Given the description of an element on the screen output the (x, y) to click on. 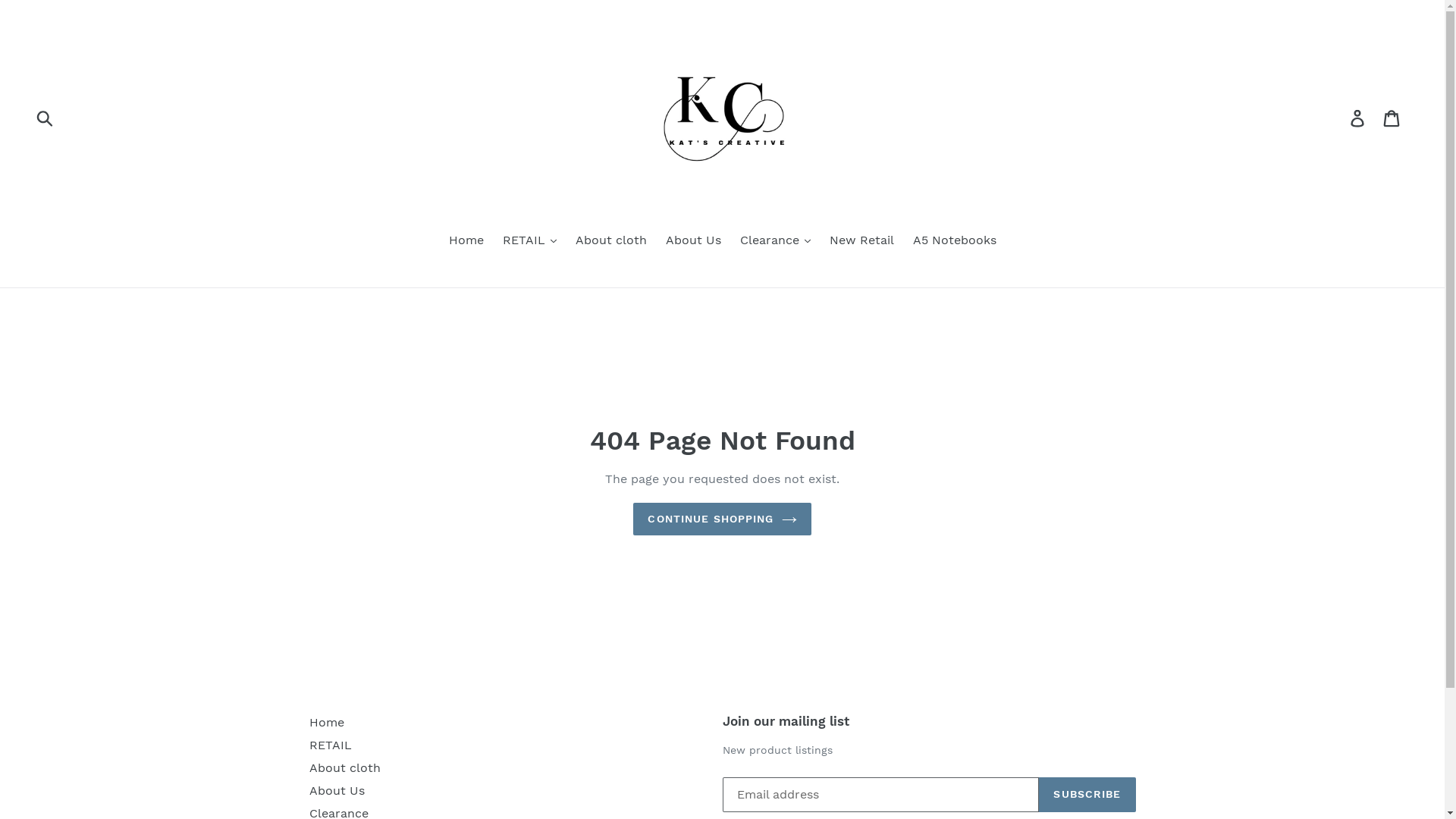
About cloth Element type: text (610, 241)
A5 Notebooks Element type: text (954, 241)
About Us Element type: text (336, 790)
Submit Element type: text (45, 117)
SUBSCRIBE Element type: text (1086, 794)
About Us Element type: text (693, 241)
RETAIL Element type: text (330, 744)
Home Element type: text (466, 241)
Cart Element type: text (1392, 117)
CONTINUE SHOPPING Element type: text (721, 518)
Home Element type: text (326, 722)
Log in Element type: text (1358, 117)
New Retail Element type: text (861, 241)
About cloth Element type: text (344, 767)
